Given the description of an element on the screen output the (x, y) to click on. 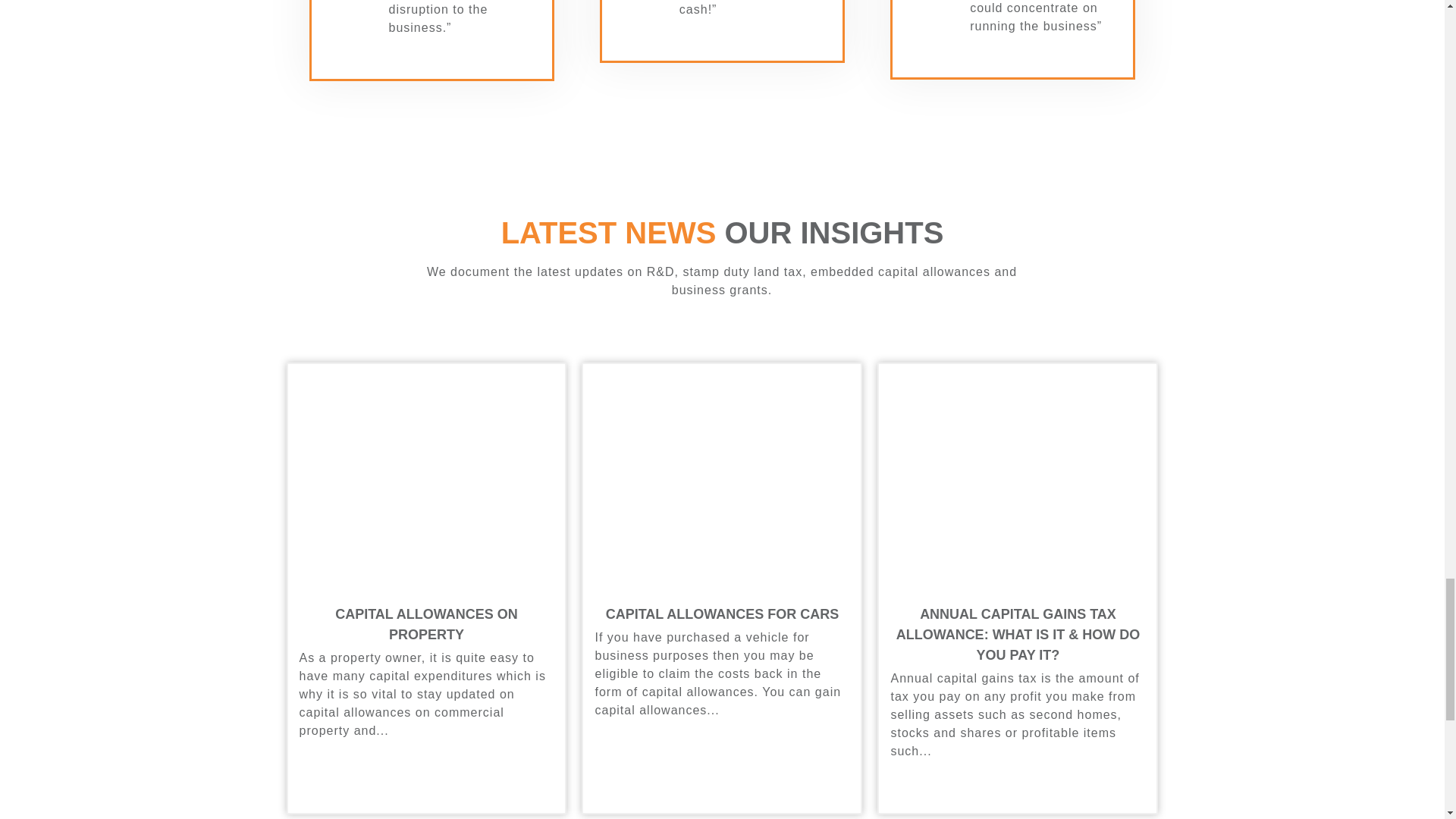
Capital Allowances For Cars (722, 613)
Capital Allowances On Property (426, 624)
